Given the description of an element on the screen output the (x, y) to click on. 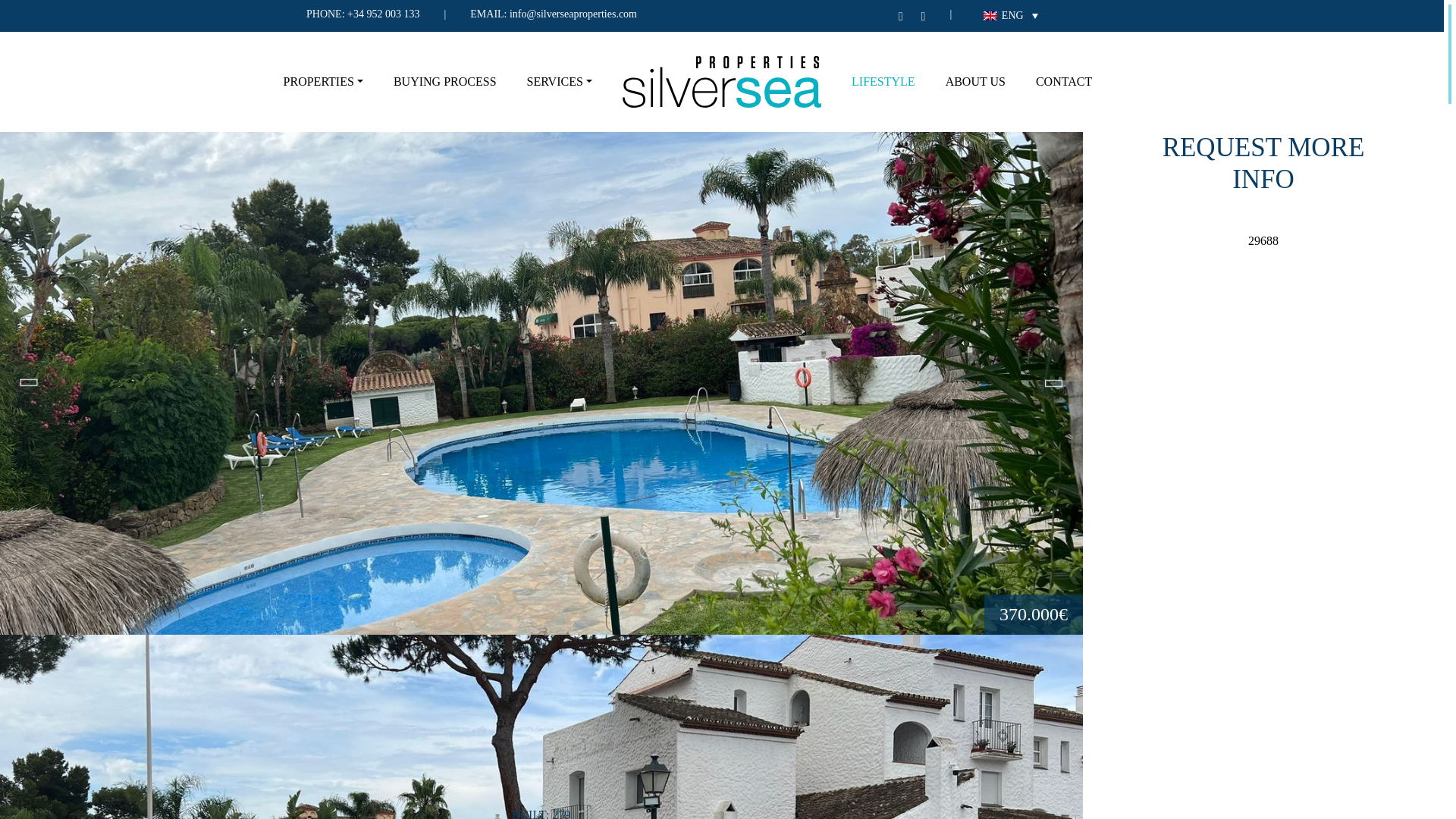
ABOUT US (975, 81)
LIFESTYLE (883, 81)
PROPERTIES (322, 81)
SERVICES (559, 81)
BUYING PROCESS (444, 81)
CONTACT (1063, 81)
ENG (1010, 15)
